Given the description of an element on the screen output the (x, y) to click on. 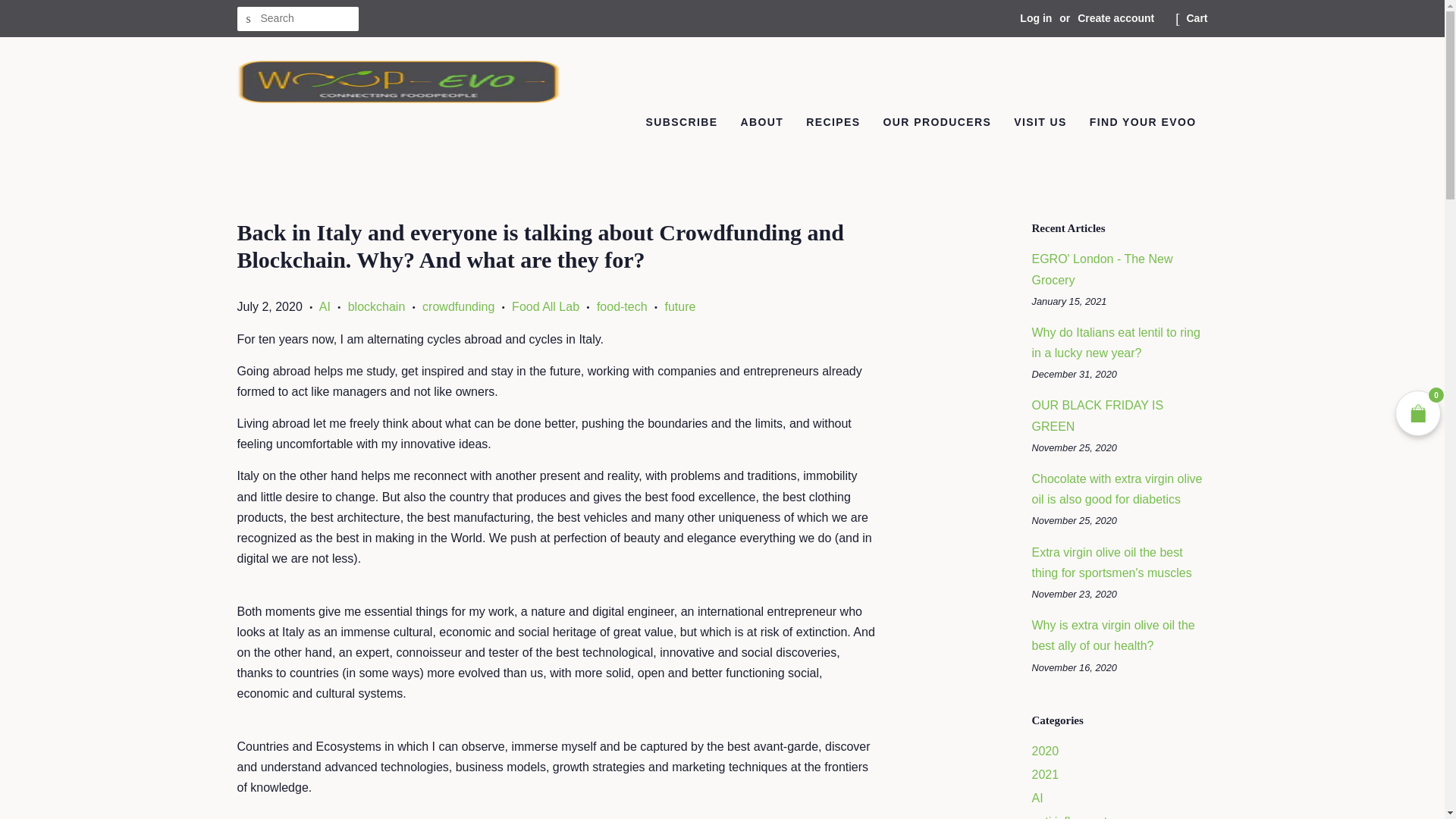
Log in (1035, 18)
VISIT US (1040, 122)
EGRO' London - The New Grocery (1101, 268)
Why do Italians eat lentil to ring in a lucky new year? (1114, 342)
Show articles tagged 2021 (1044, 774)
Our Producers (937, 122)
food-tech (621, 306)
Create account (1115, 18)
About (761, 122)
Cart (1196, 18)
Show articles tagged 2020 (1044, 750)
SUBSCRIBE (681, 122)
crowdfunding (458, 306)
Subscribe (681, 122)
